Given the description of an element on the screen output the (x, y) to click on. 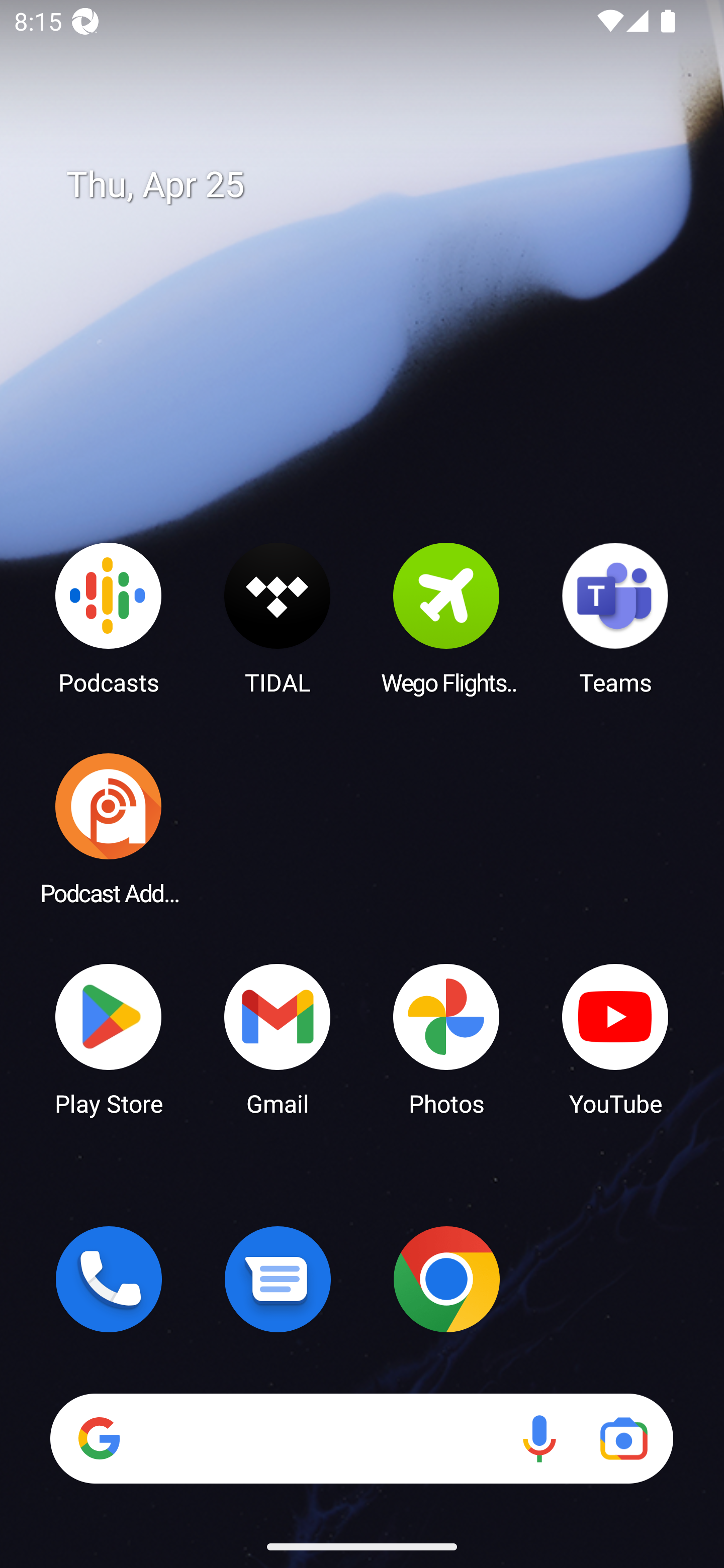
Thu, Apr 25 (375, 184)
Podcasts (108, 617)
TIDAL (277, 617)
Wego Flights & Hotels (445, 617)
Teams (615, 617)
Podcast Addict (108, 828)
Play Store (108, 1038)
Gmail (277, 1038)
Photos (445, 1038)
YouTube (615, 1038)
Phone (108, 1279)
Messages (277, 1279)
Chrome (446, 1279)
Search Voice search Google Lens (361, 1438)
Voice search (539, 1438)
Google Lens (623, 1438)
